Given the description of an element on the screen output the (x, y) to click on. 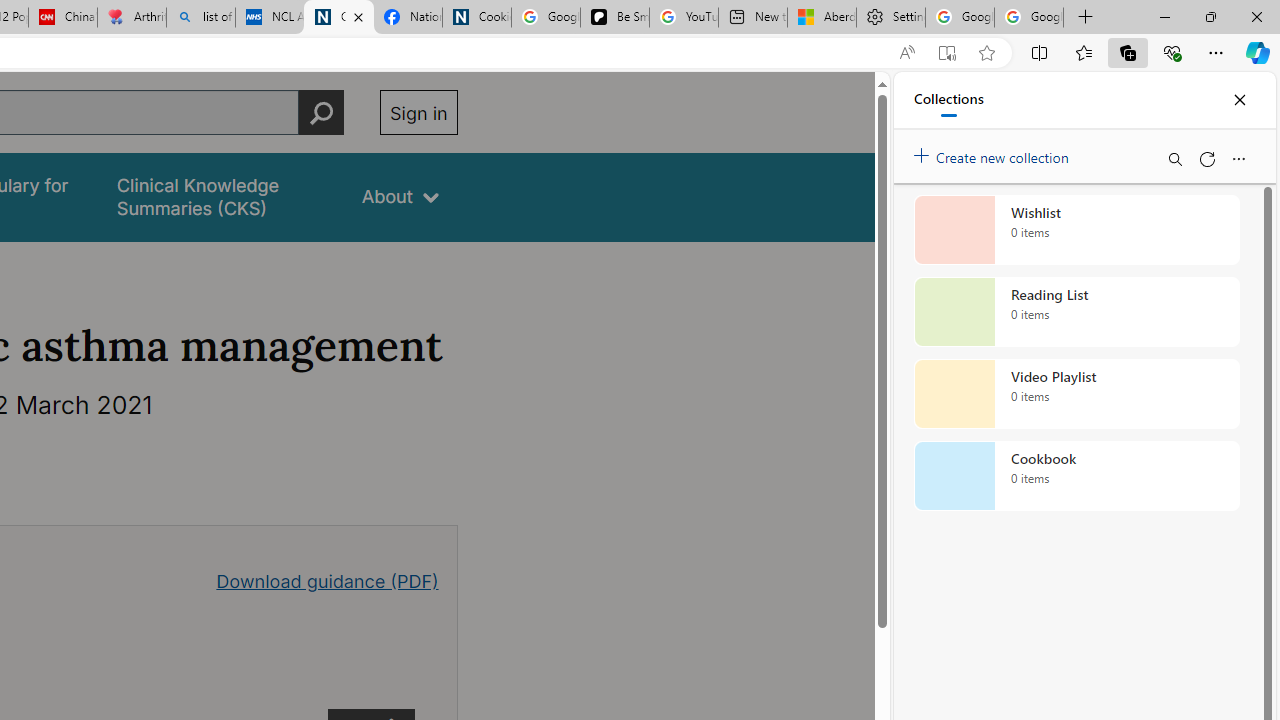
Cookbook collection, 0 items (1076, 475)
false (221, 196)
Wishlist collection, 0 items (1076, 229)
